Given the description of an element on the screen output the (x, y) to click on. 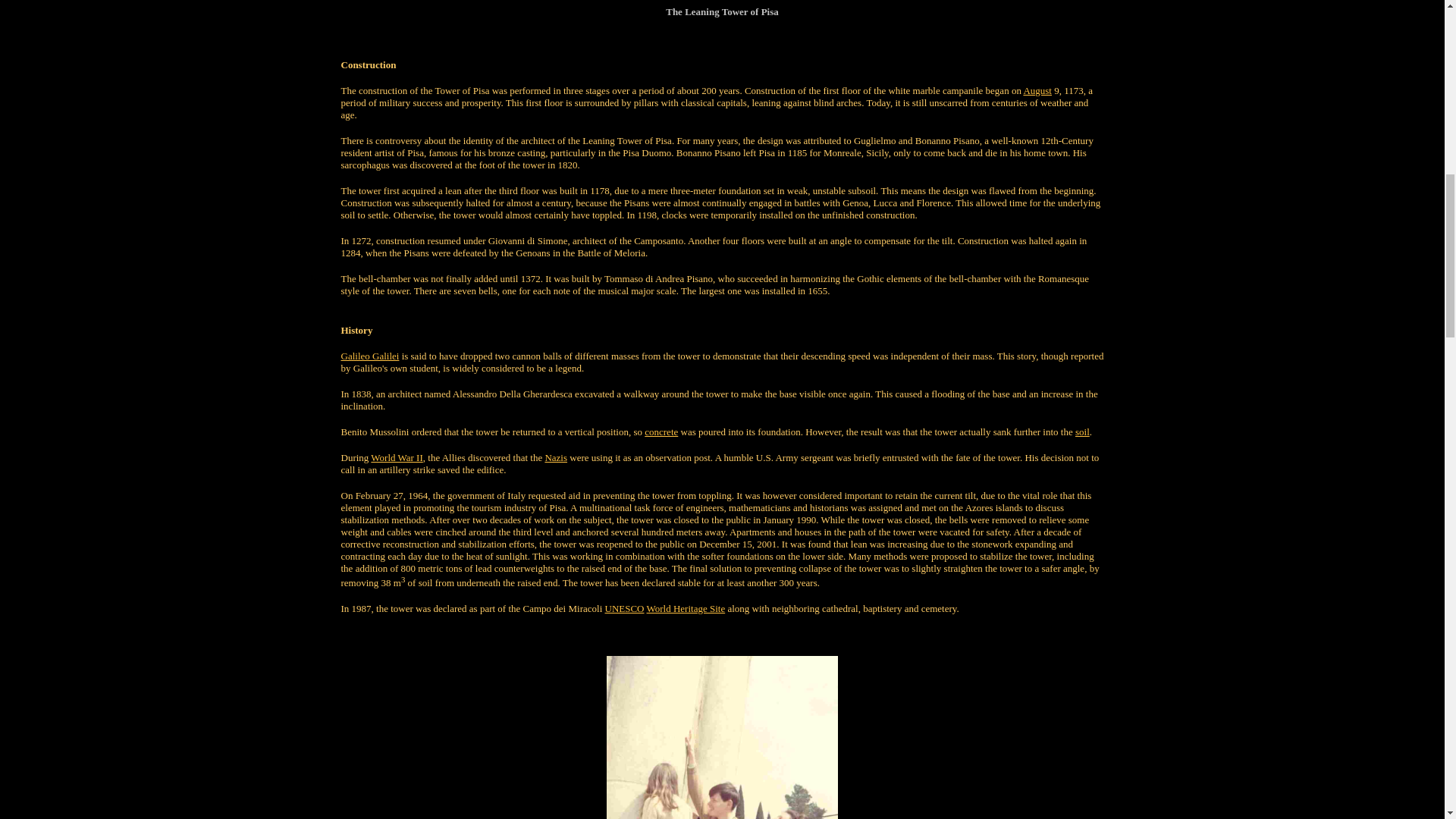
August (1037, 90)
World War II (396, 457)
Nazis (555, 457)
Galileo Galilei (369, 355)
World Heritage Site (685, 608)
Concrete (661, 431)
Galileo Galilei (369, 355)
UNESCO (625, 608)
soil (1082, 431)
World War II (396, 457)
UNESCO World Heritage Site (685, 608)
Soil (1082, 431)
Nazis (555, 457)
UNESCO World Heritage Site (625, 608)
concrete (661, 431)
